Given the description of an element on the screen output the (x, y) to click on. 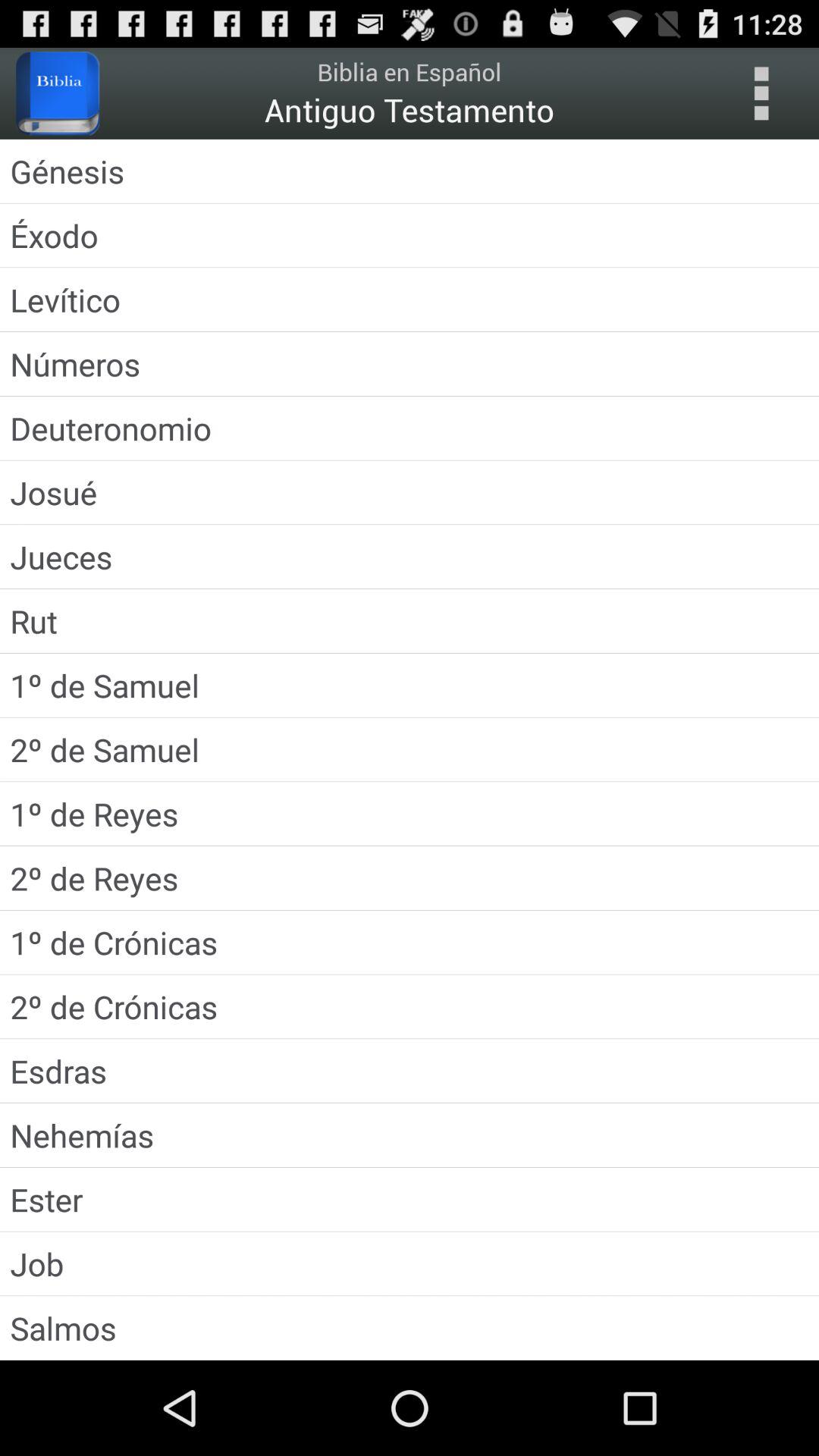
turn off the deuteronomio item (409, 427)
